Given the description of an element on the screen output the (x, y) to click on. 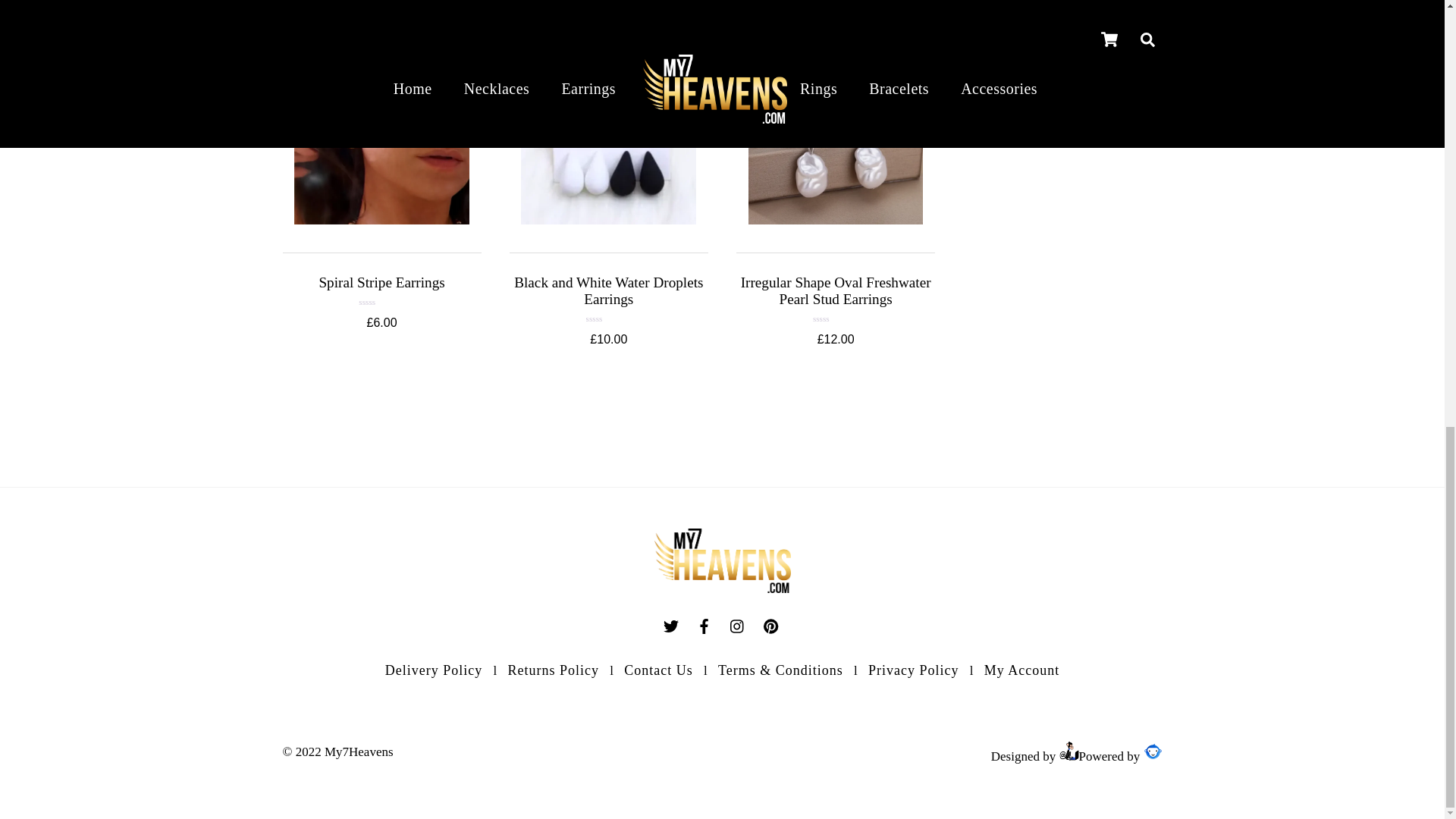
C225F161-9AFF-47FA-B0F3-62CC908D0E57 (835, 136)
Spiral Stripe Earrings (381, 282)
My7Heavens (721, 588)
SnobHost (1151, 751)
Snob Monkey Ltd (1068, 750)
Footer Logo (721, 560)
Irregular Shape Oval Freshwater Pearl Stud Earrings (836, 290)
4359C26C-103D-4133-9274-1A9DC0F54B70 (381, 136)
Black and White Water Droplets Earrings (608, 290)
